Given the description of an element on the screen output the (x, y) to click on. 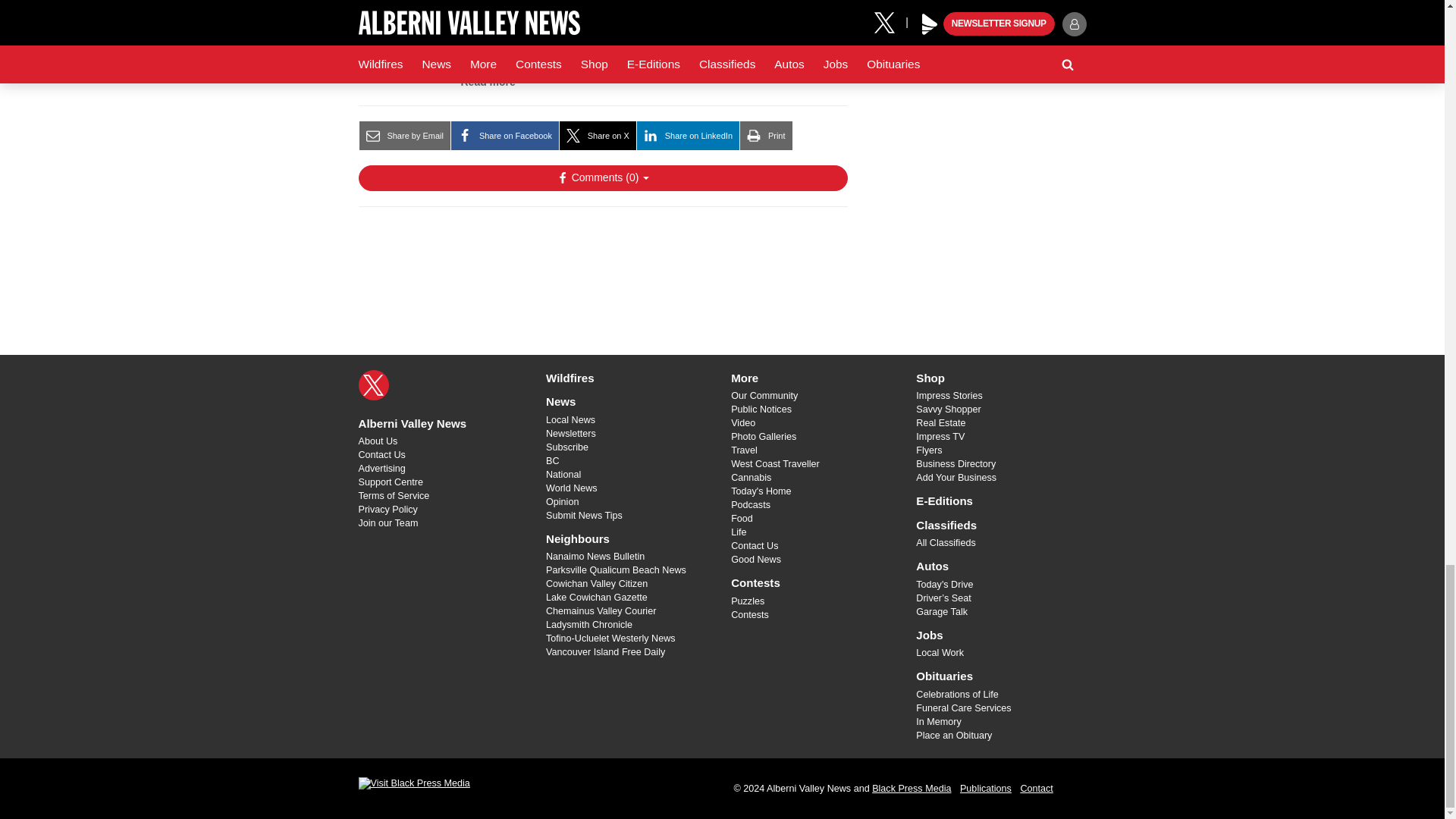
X (373, 385)
Show Comments (602, 177)
